Given the description of an element on the screen output the (x, y) to click on. 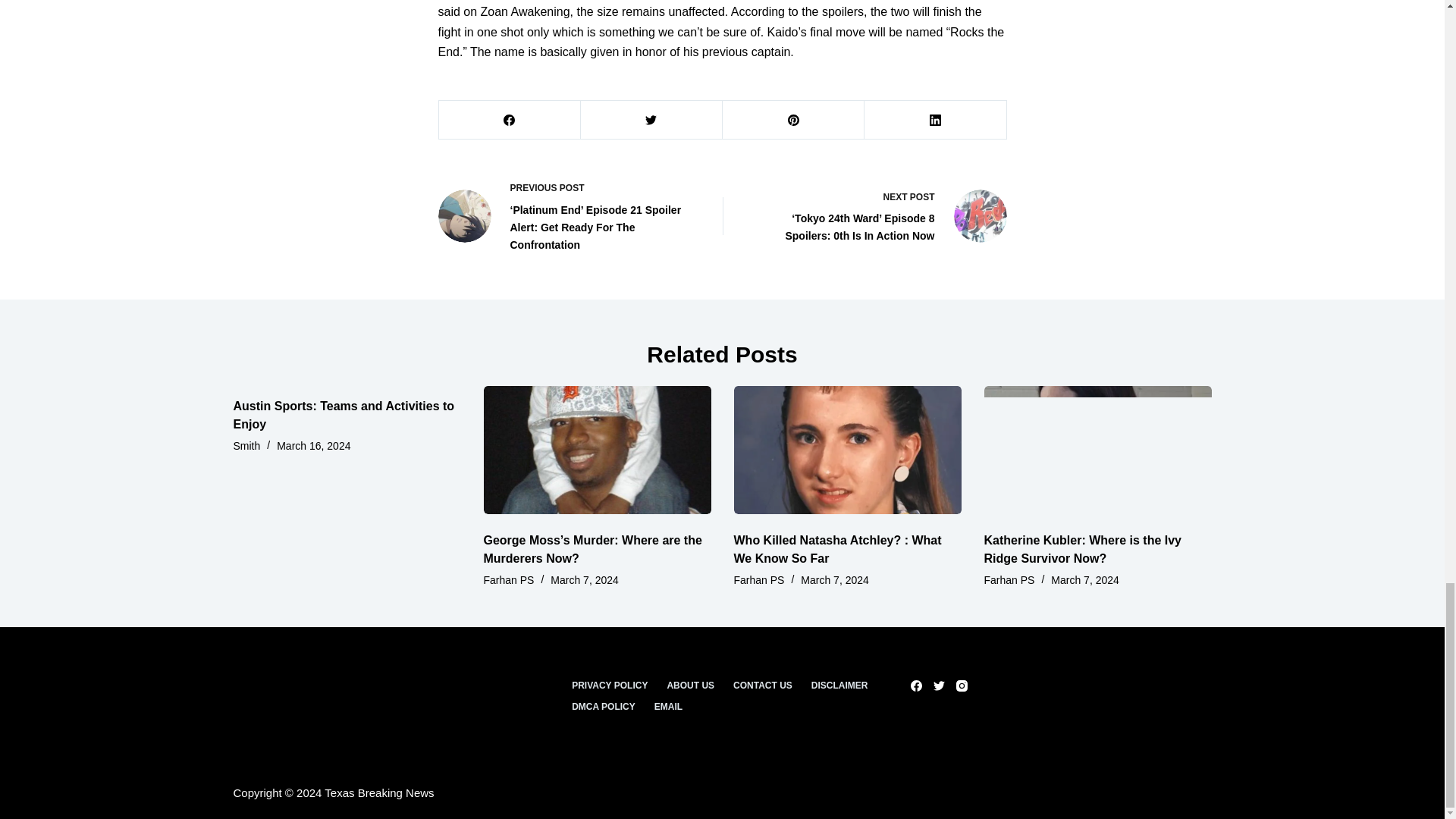
Austin Sports: Teams and Activities to Enjoy (343, 414)
Posts by Smith (246, 445)
Smith (246, 445)
Posts by Farhan PS (508, 580)
Posts by Farhan PS (1009, 580)
Posts by Farhan PS (758, 580)
